Given the description of an element on the screen output the (x, y) to click on. 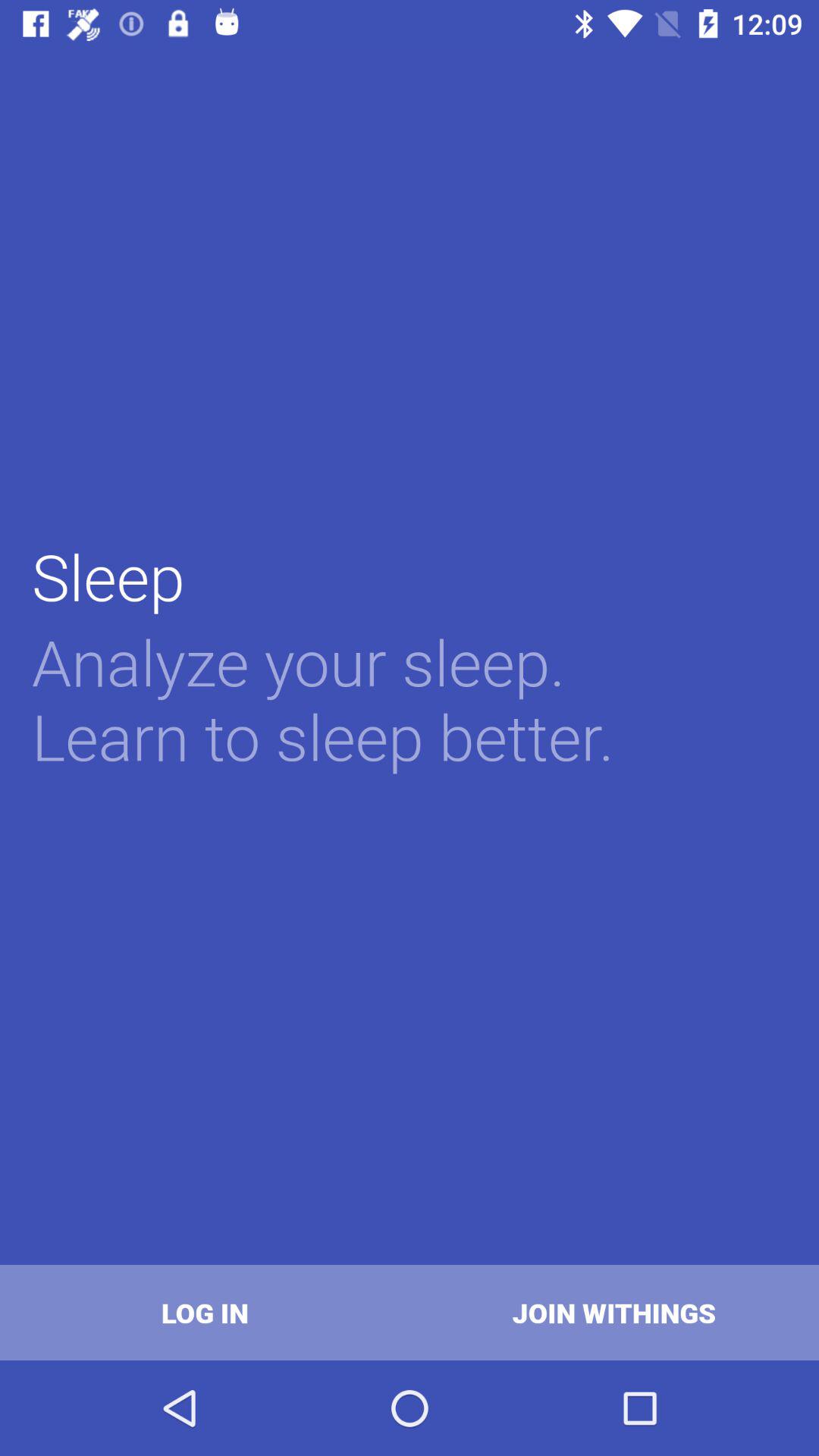
click the item below analyze your sleep icon (204, 1312)
